Given the description of an element on the screen output the (x, y) to click on. 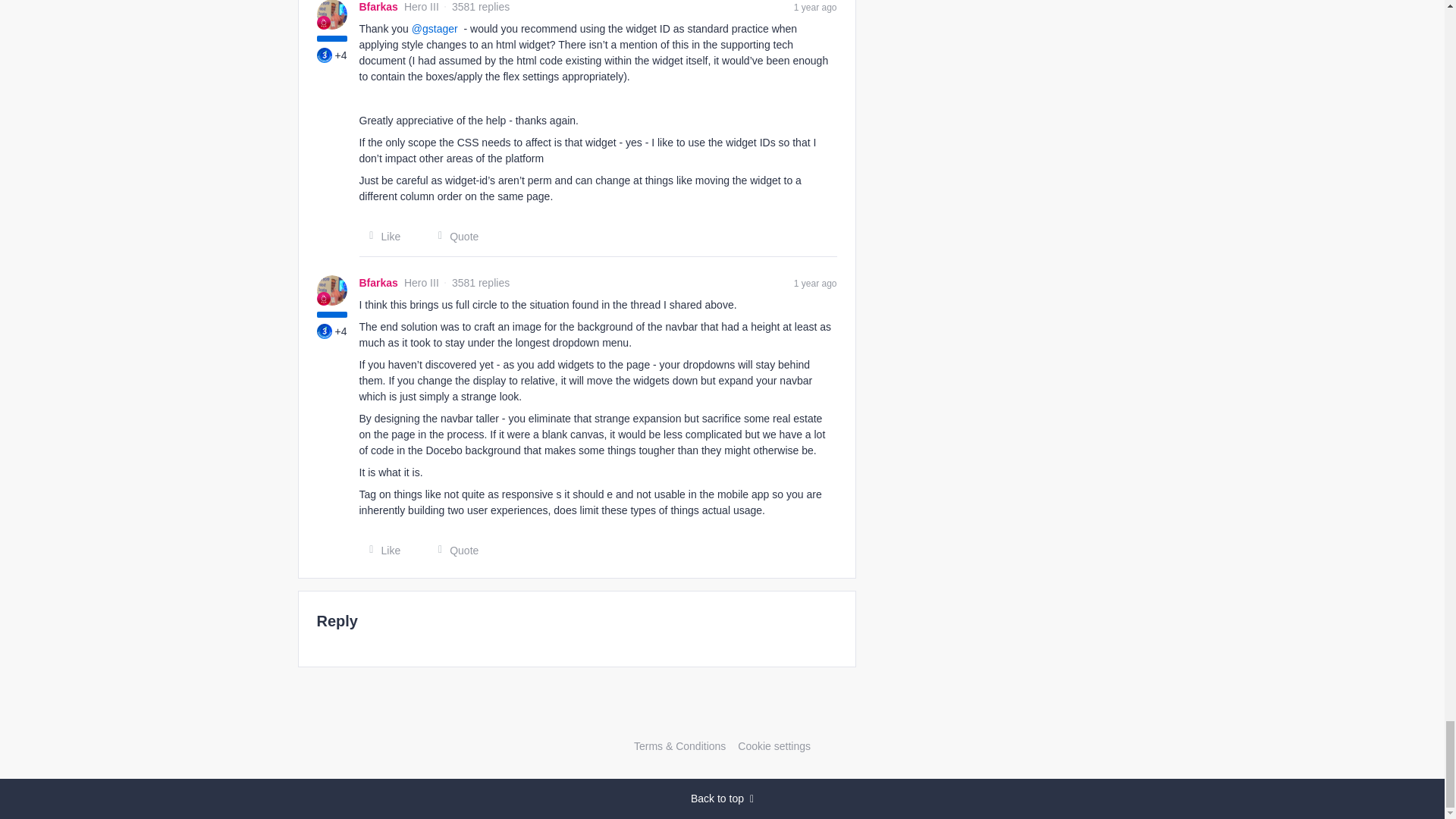
Back to top (722, 798)
